Given the description of an element on the screen output the (x, y) to click on. 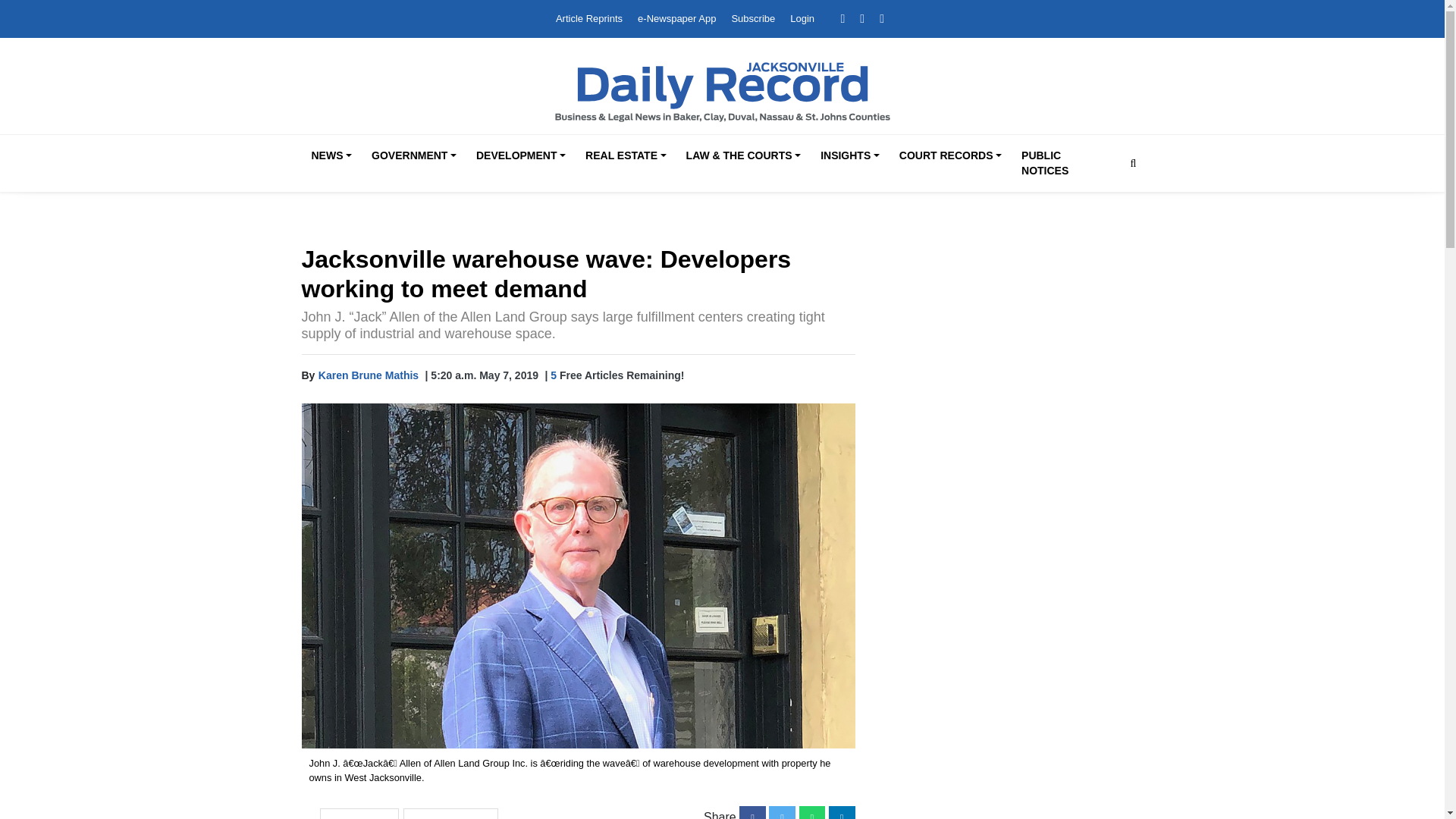
COURT RECORDS (950, 156)
Login (801, 18)
REAL ESTATE (625, 156)
INSIGHTS (849, 156)
Subscribe (752, 18)
NEWS (330, 156)
e-Newspaper App (676, 18)
DEVELOPMENT (520, 156)
GOVERNMENT (414, 156)
Article Reprints (589, 18)
